Given the description of an element on the screen output the (x, y) to click on. 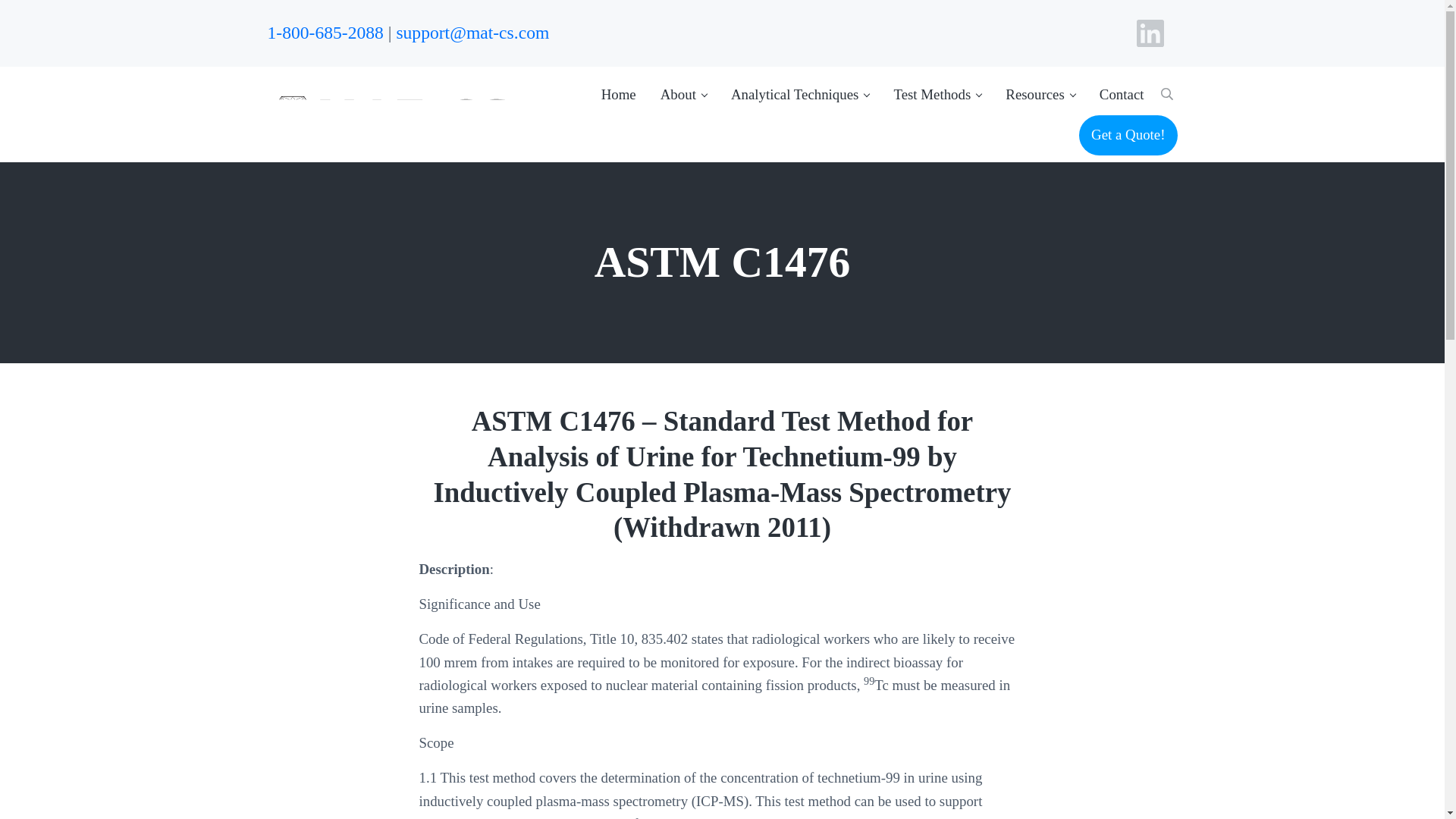
1-800-685-2088 (324, 32)
Analytical Techniques (800, 94)
Home (618, 94)
LinkedIn (1149, 32)
About (683, 94)
Test Methods (936, 94)
